Given the description of an element on the screen output the (x, y) to click on. 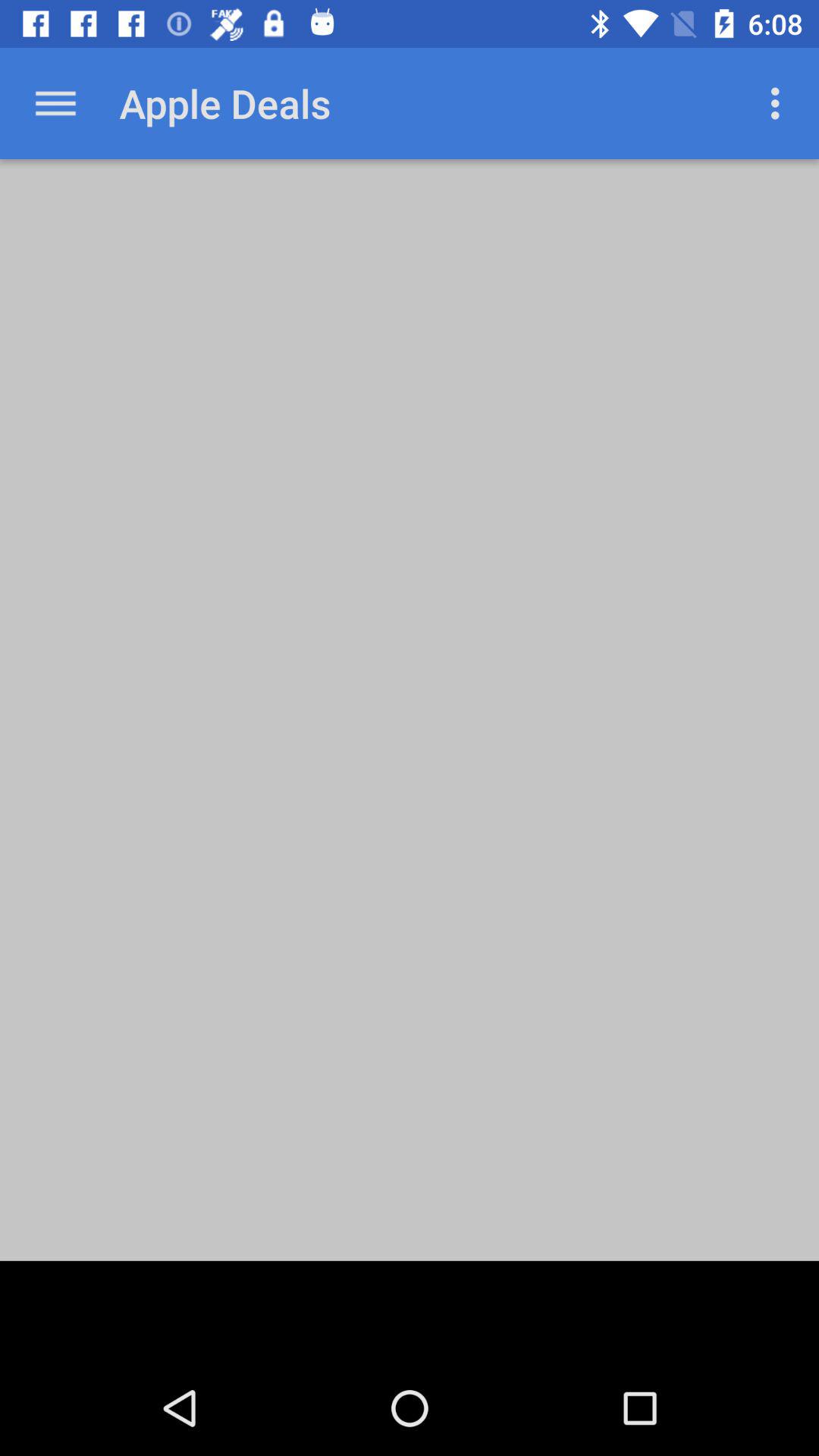
choose app next to the apple deals item (779, 103)
